Given the description of an element on the screen output the (x, y) to click on. 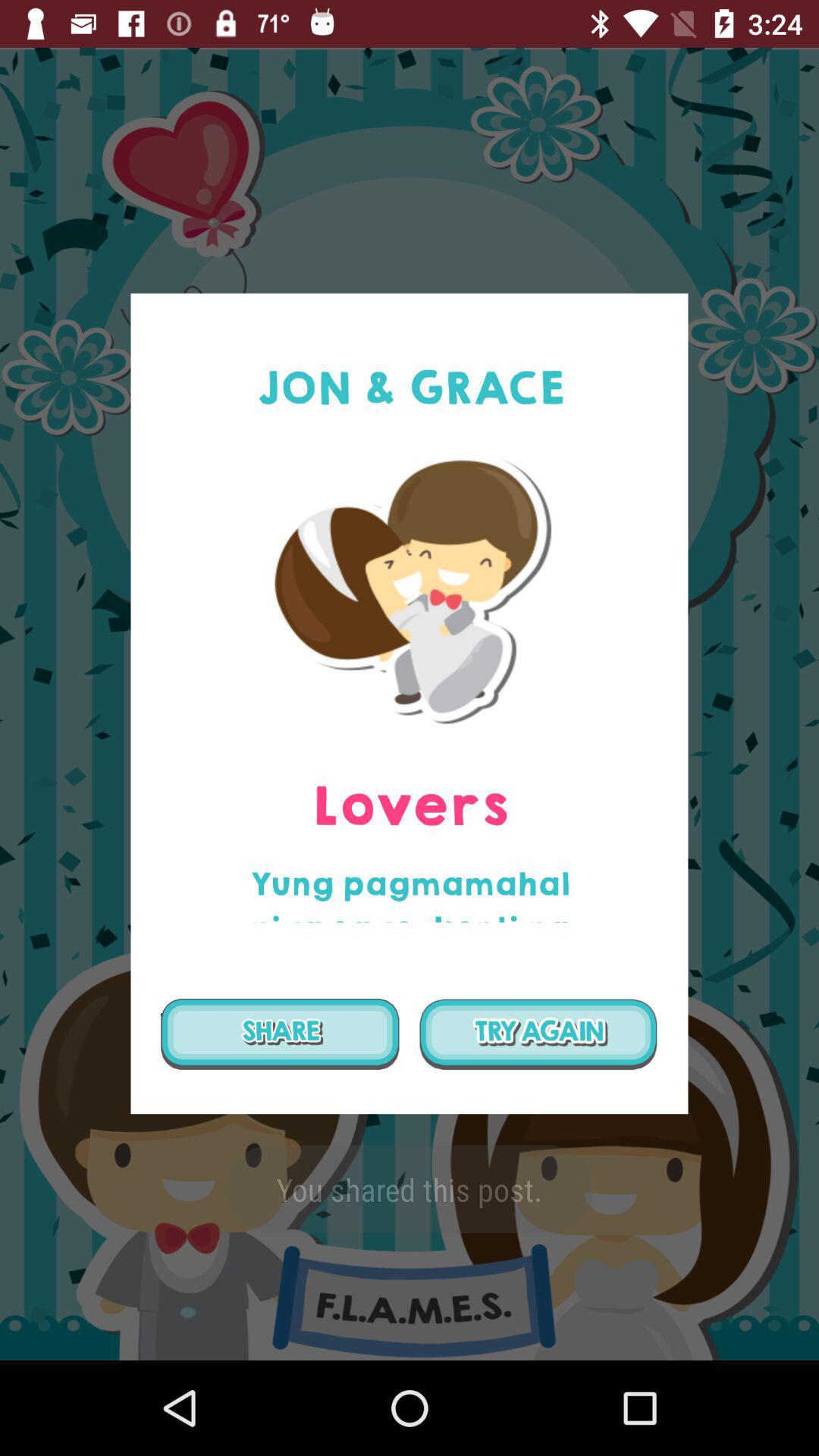
try again button (538, 1034)
